Given the description of an element on the screen output the (x, y) to click on. 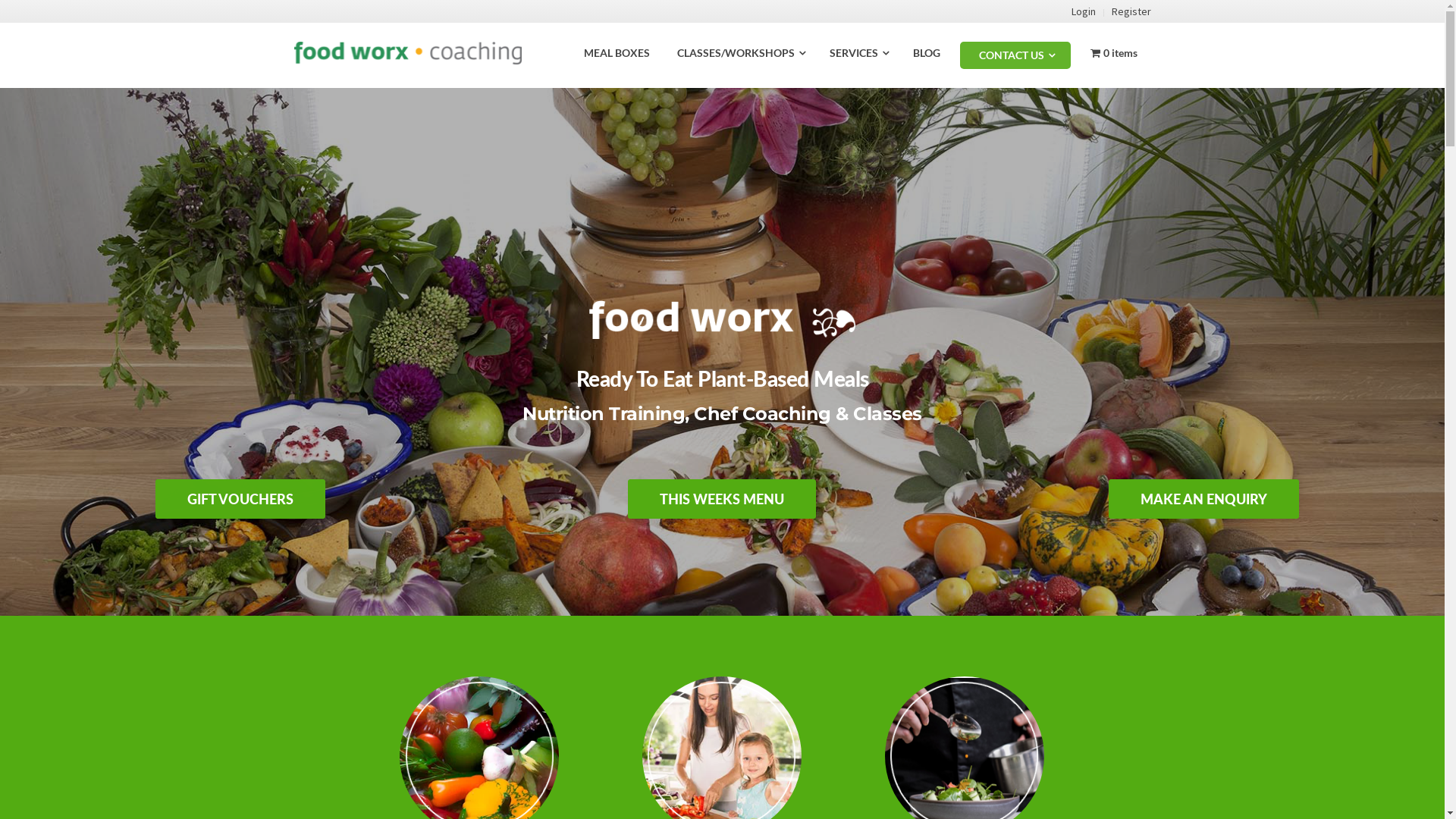
MEAL BOXES Element type: text (616, 52)
Register Element type: text (1131, 10)
BLOG Element type: text (926, 52)
Login Element type: text (1082, 10)
CONTACT US Element type: text (1015, 55)
0 items Element type: text (1113, 52)
MAKE AN ENQUIRY Element type: text (1203, 498)
SERVICES Element type: text (857, 52)
CLASSES/WORKSHOPS Element type: text (739, 52)
THIS WEEKS MENU Element type: text (721, 498)
white-logo Element type: hover (722, 319)
GIFT VOUCHERS Element type: text (240, 498)
